Given the description of an element on the screen output the (x, y) to click on. 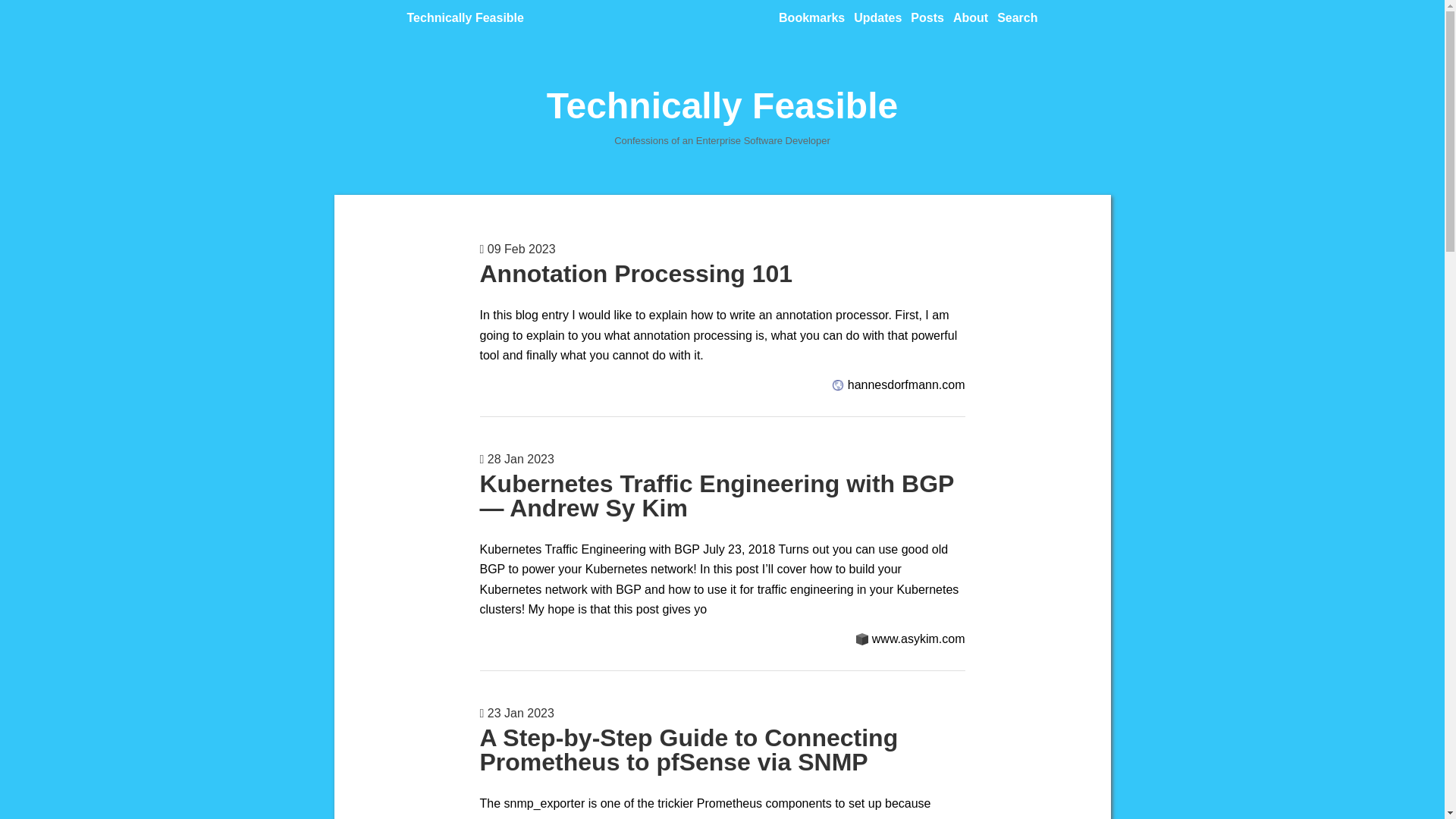
Technically Feasible (464, 17)
Bookmarks (811, 17)
About (970, 17)
Updates (877, 17)
Posts (927, 17)
Technically Feasible (722, 105)
Search (1016, 17)
